Given the description of an element on the screen output the (x, y) to click on. 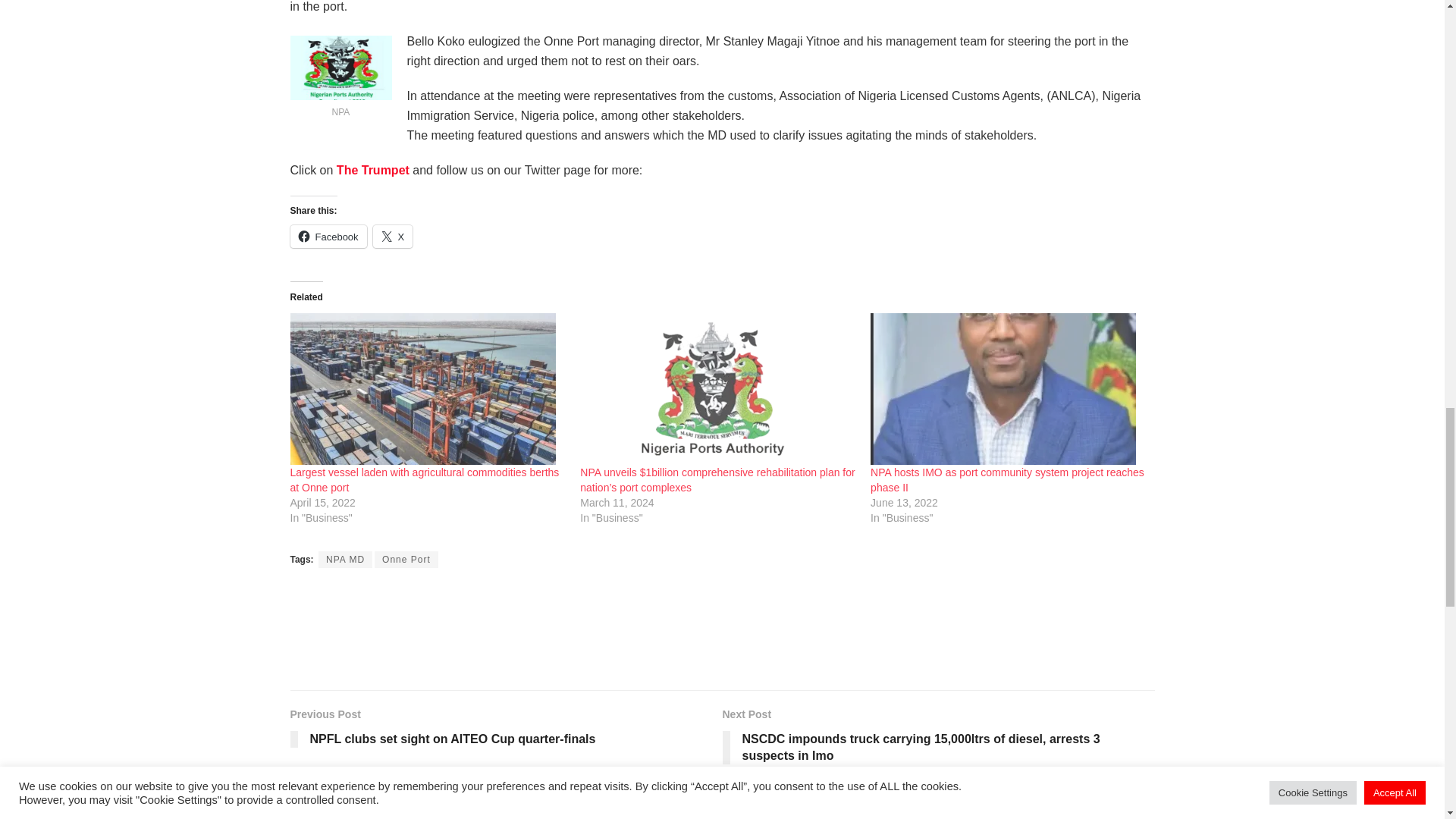
Click to share on X (392, 236)
Advertisement (721, 628)
Click to share on Facebook (327, 236)
